Given the description of an element on the screen output the (x, y) to click on. 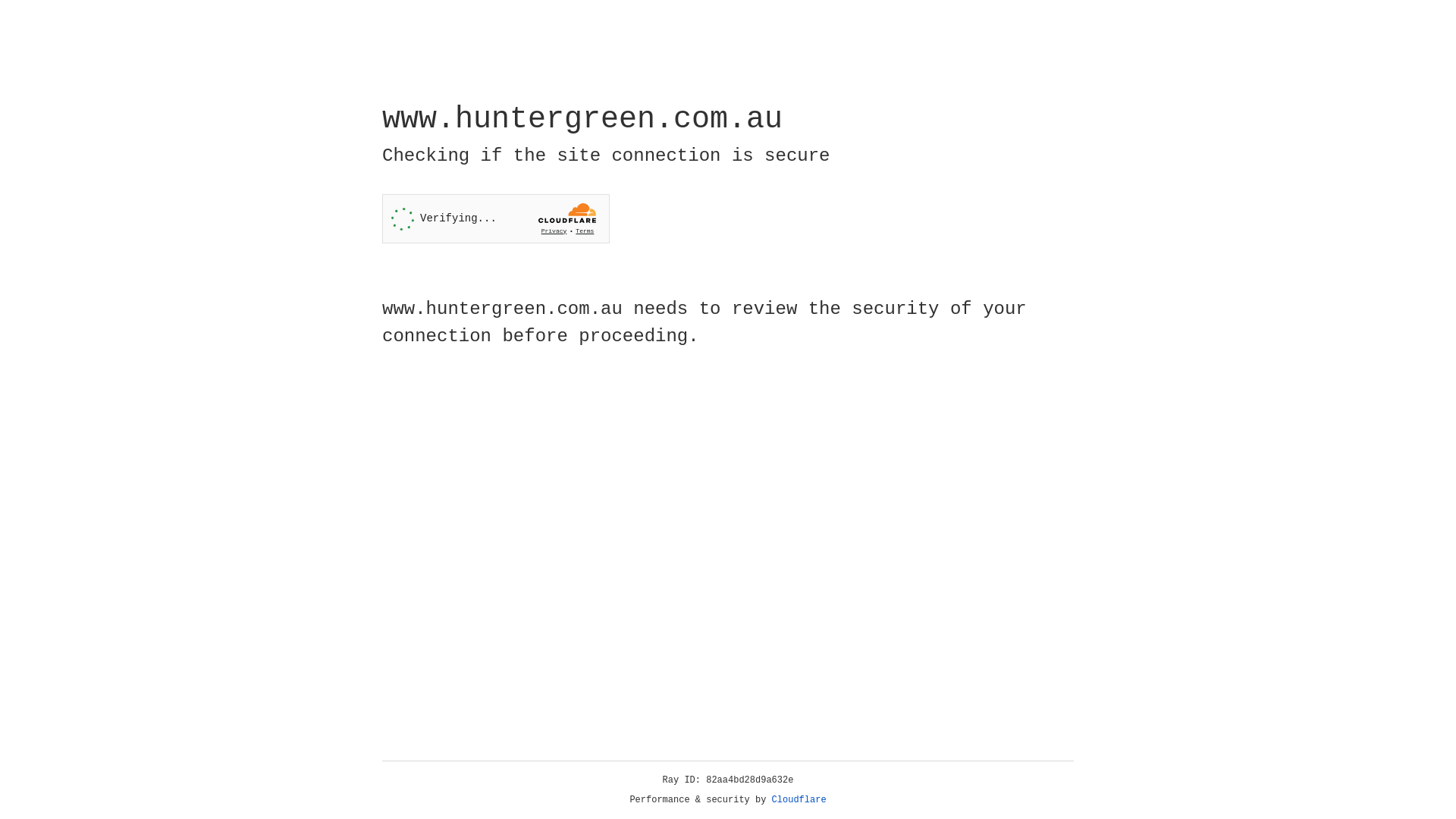
Widget containing a Cloudflare security challenge Element type: hover (495, 218)
Cloudflare Element type: text (798, 799)
